Given the description of an element on the screen output the (x, y) to click on. 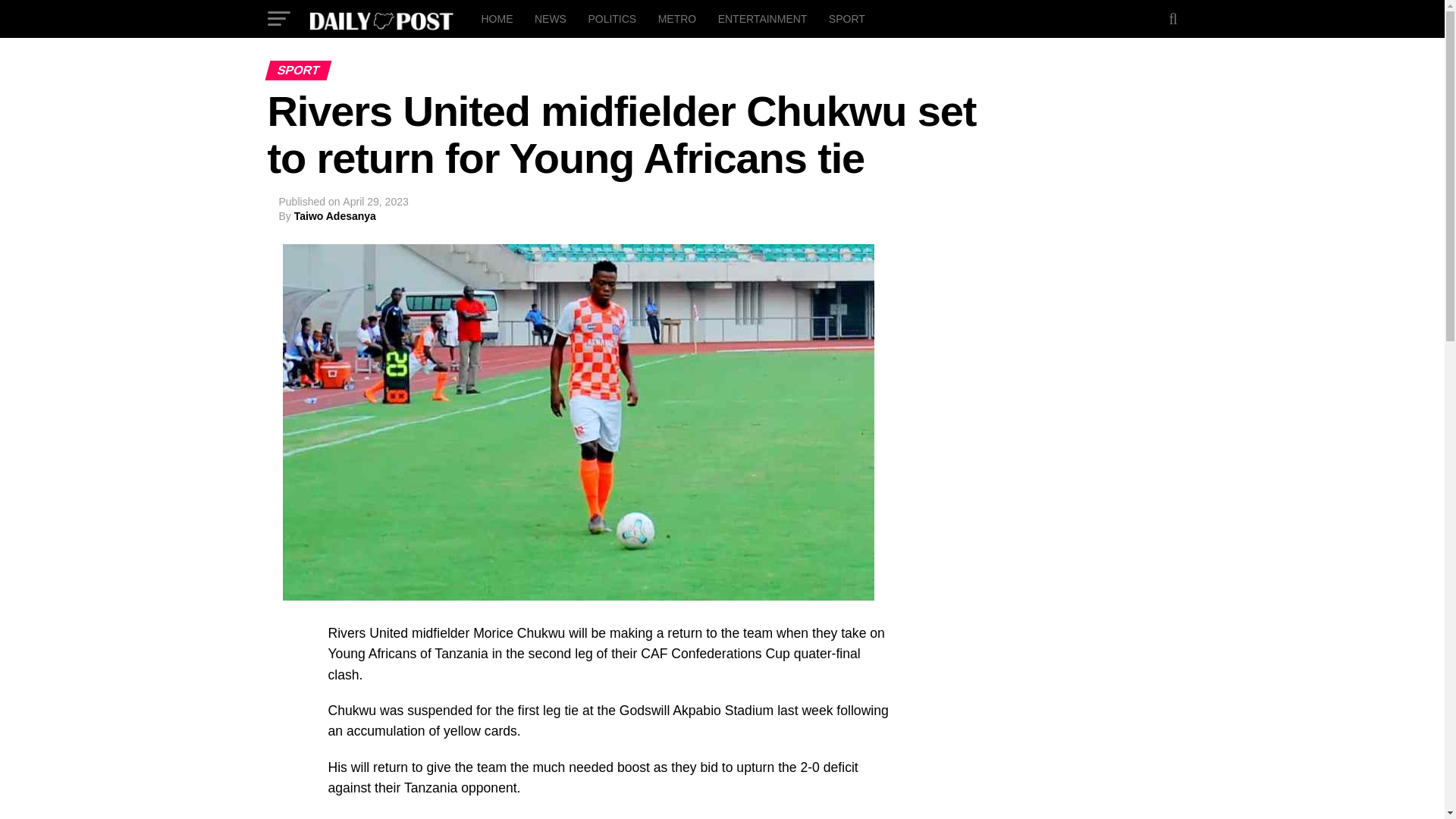
NEWS (550, 18)
ENTERTAINMENT (762, 18)
POLITICS (611, 18)
Taiwo Adesanya (334, 215)
Posts by Taiwo Adesanya (334, 215)
SPORT (847, 18)
HOME (496, 18)
METRO (677, 18)
